Given the description of an element on the screen output the (x, y) to click on. 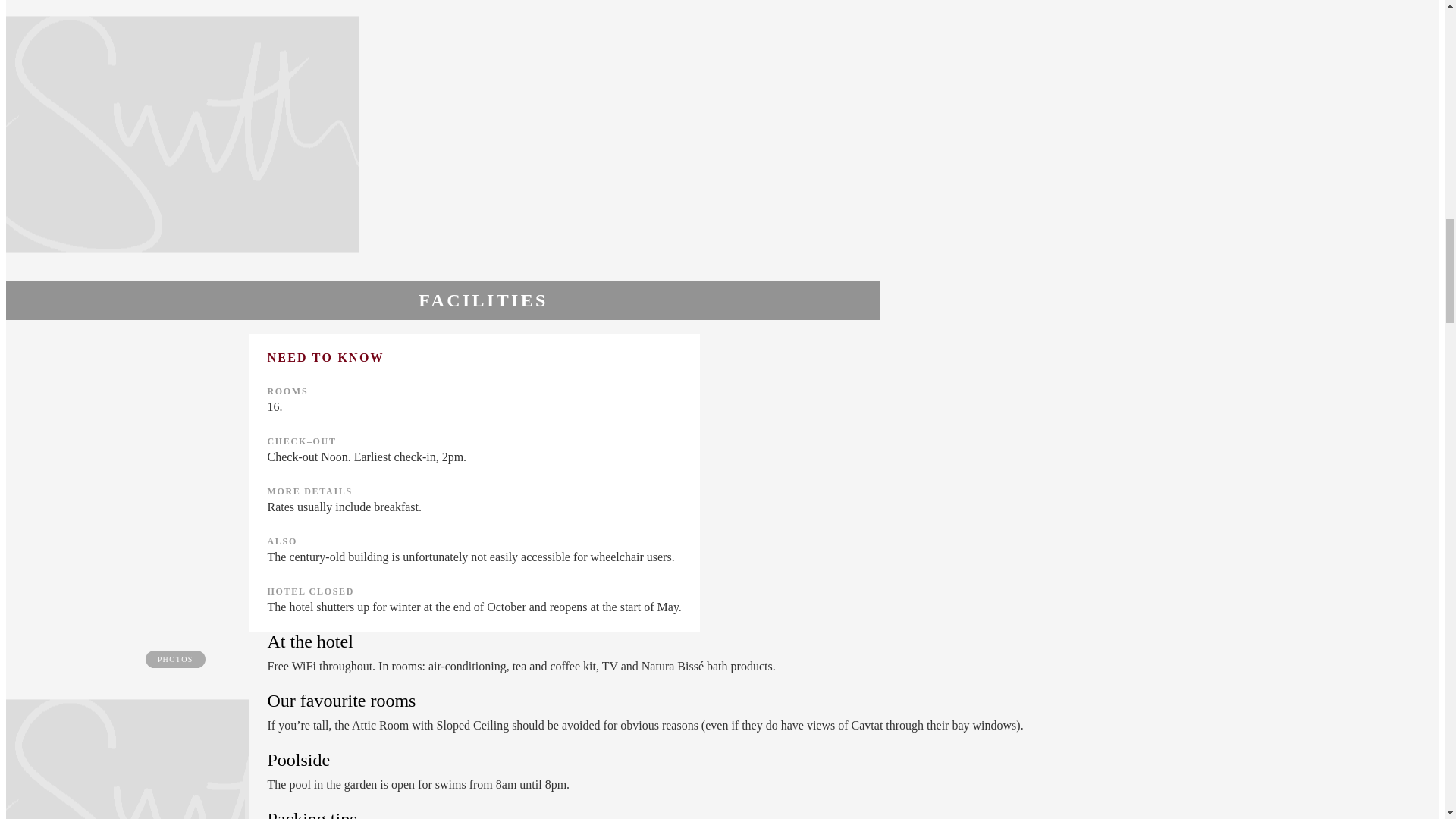
Hotel Supetar (182, 759)
PHOTOS (126, 725)
